Given the description of an element on the screen output the (x, y) to click on. 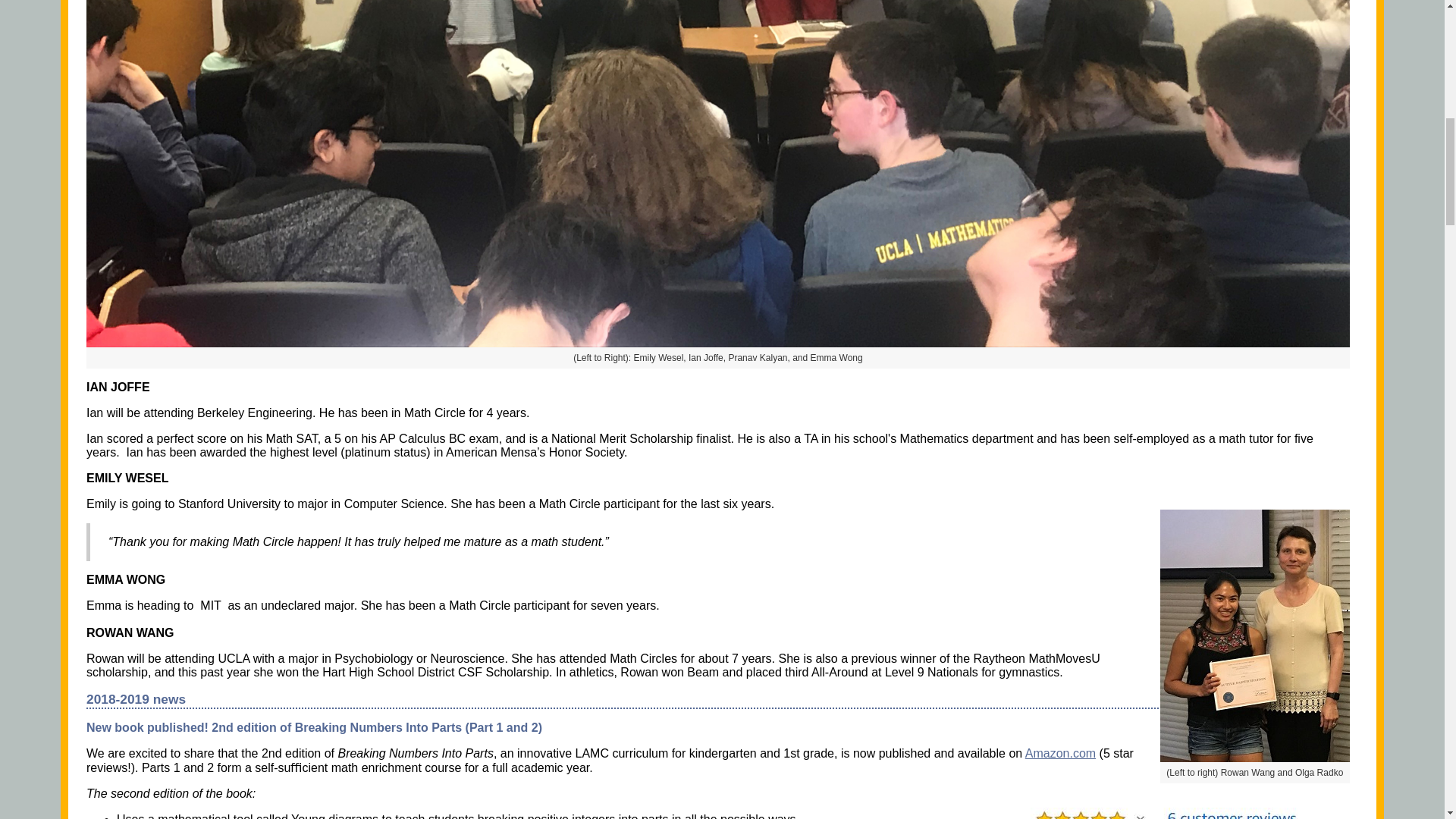
Amazon.com (1060, 753)
